Given the description of an element on the screen output the (x, y) to click on. 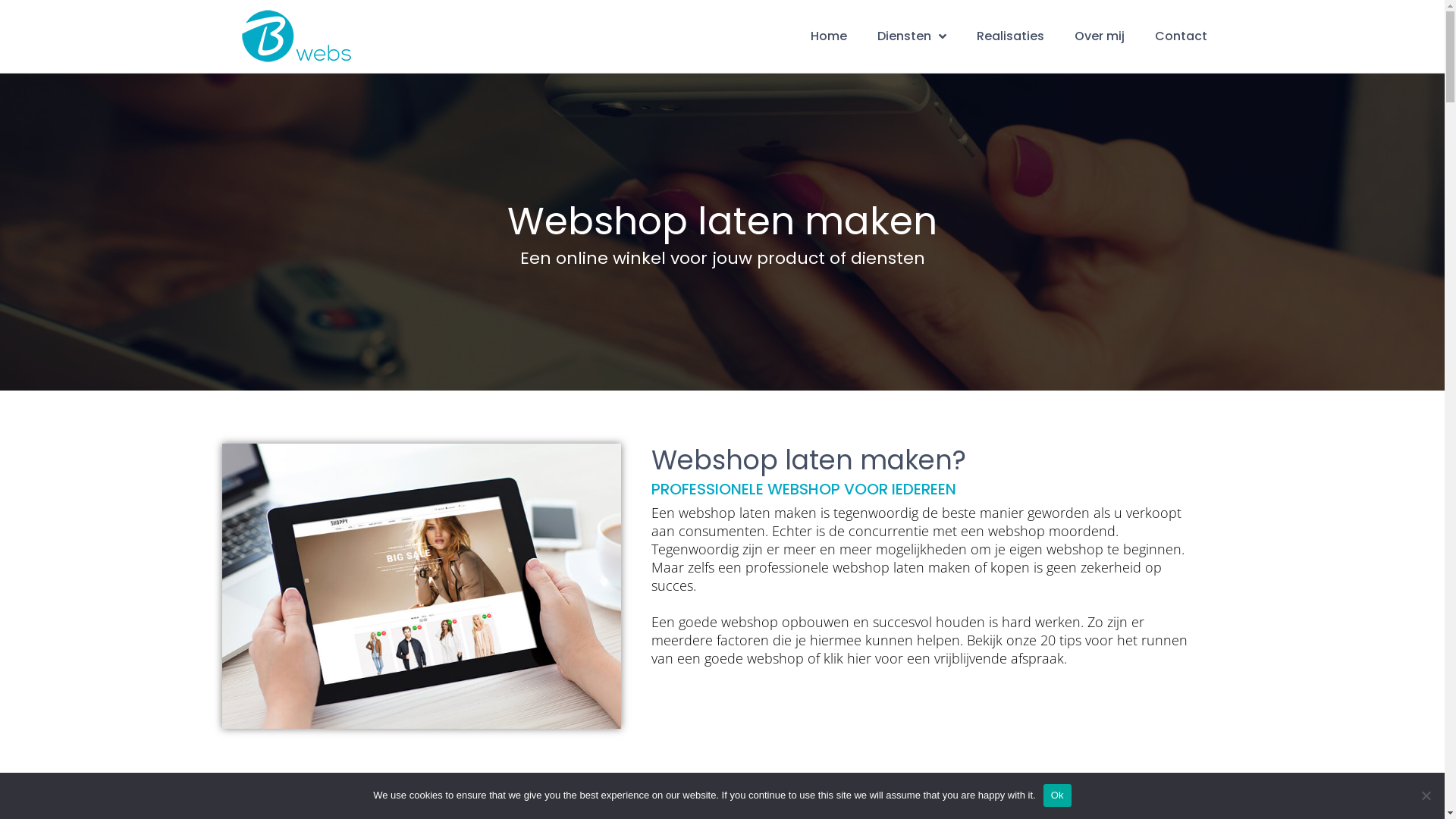
Contact Element type: text (1180, 35)
Home Element type: text (828, 35)
Diensten Element type: text (911, 35)
No Element type: hover (1425, 795)
Realisaties Element type: text (1010, 35)
Ok Element type: text (1057, 795)
Over mij Element type: text (1099, 35)
